Given the description of an element on the screen output the (x, y) to click on. 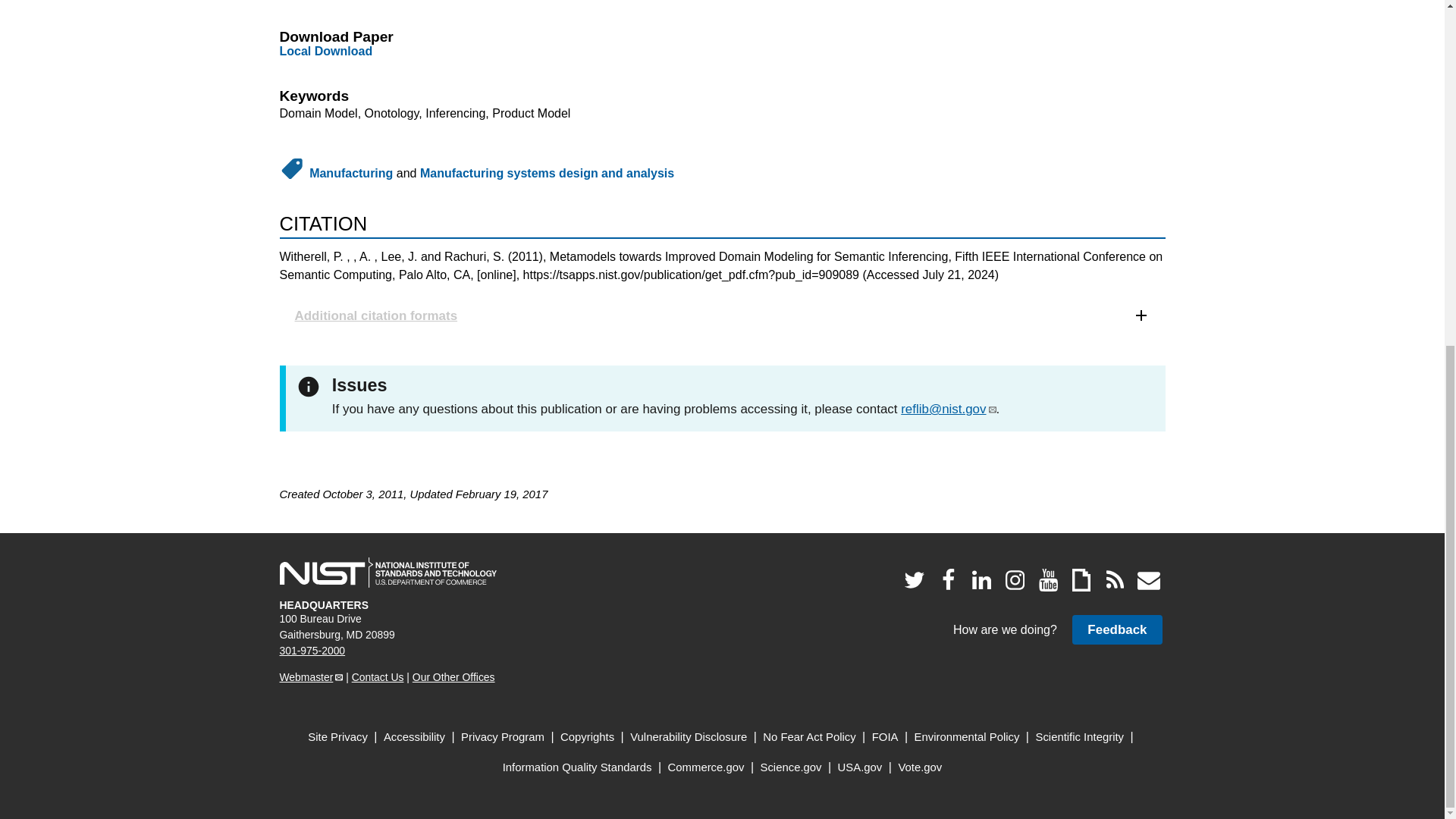
Vulnerability Disclosure (688, 736)
Copyrights (587, 736)
National Institute of Standards and Technology (387, 572)
Accessibility (414, 736)
301-975-2000 (312, 650)
Webmaster (310, 676)
Our Other Offices (453, 676)
FOIA (885, 736)
Manufacturing (350, 173)
Provide feedback (1116, 629)
Contact Us (378, 676)
Feedback (1116, 629)
Manufacturing systems design and analysis (547, 173)
Additional citation formats (721, 315)
Local Download (325, 51)
